Given the description of an element on the screen output the (x, y) to click on. 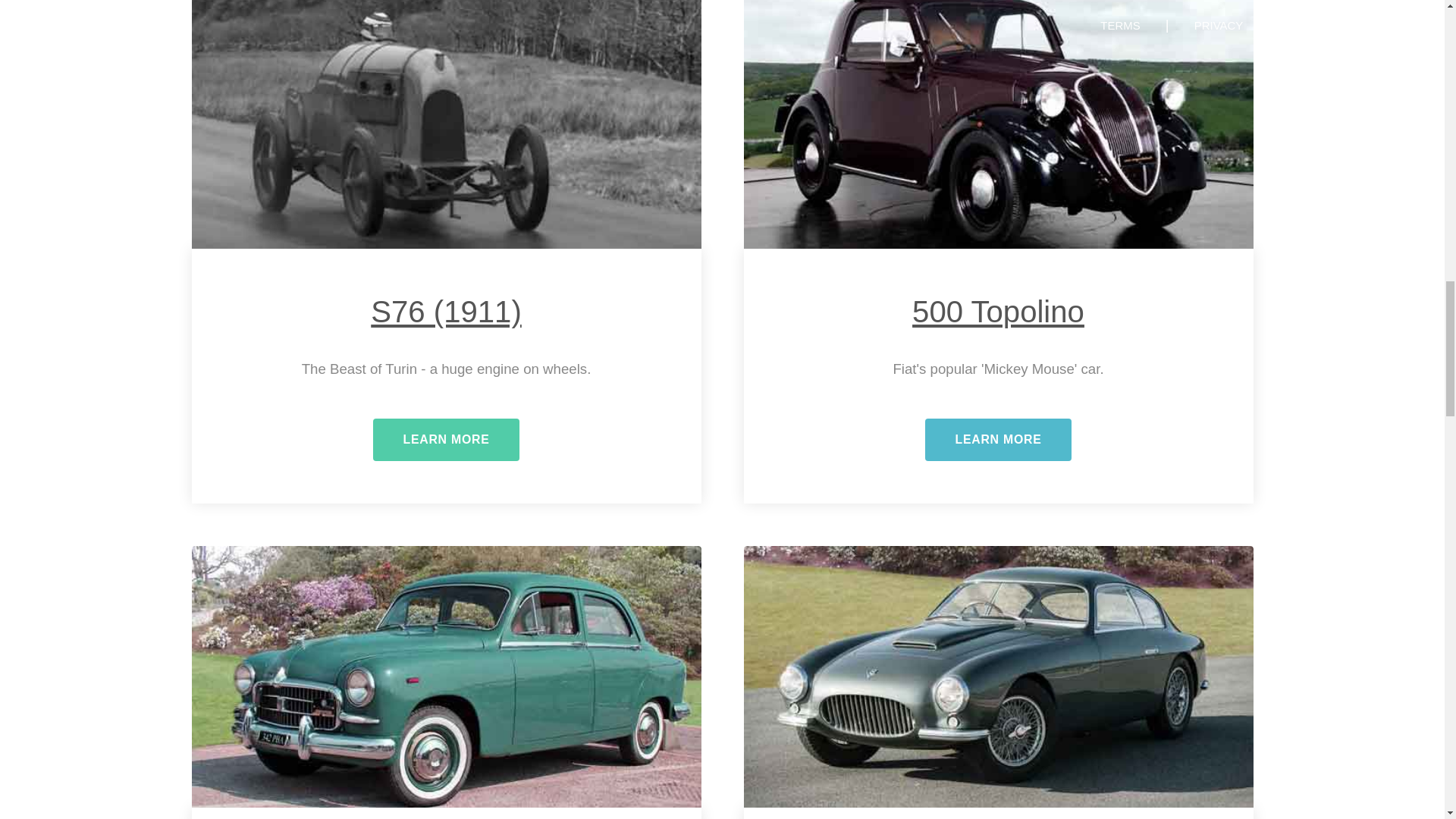
LEARN MORE (445, 439)
LEARN MORE (997, 439)
500 Topolino (998, 311)
